Given the description of an element on the screen output the (x, y) to click on. 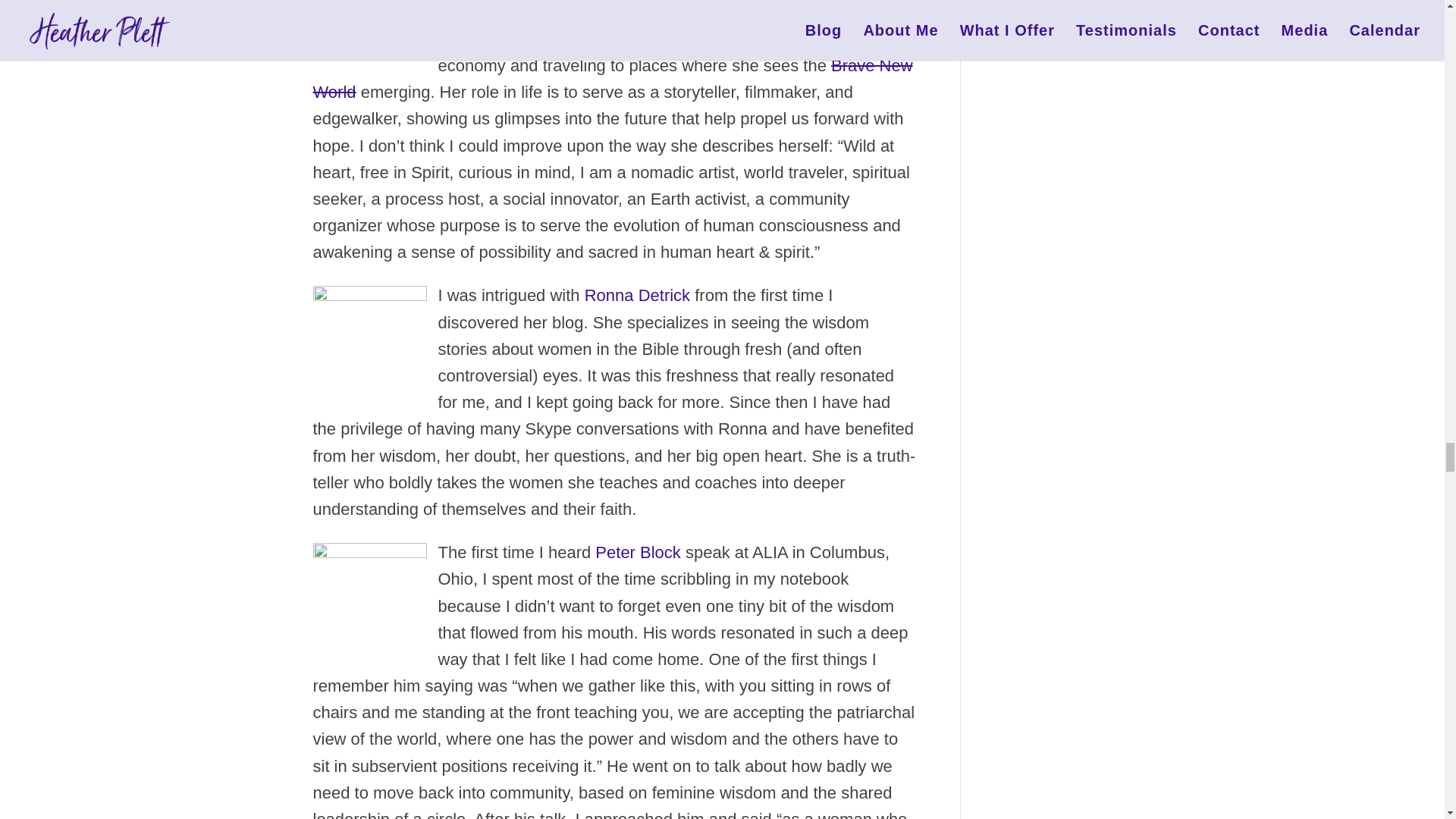
Ronna Detrick (369, 338)
filiz telek (369, 29)
